Given the description of an element on the screen output the (x, y) to click on. 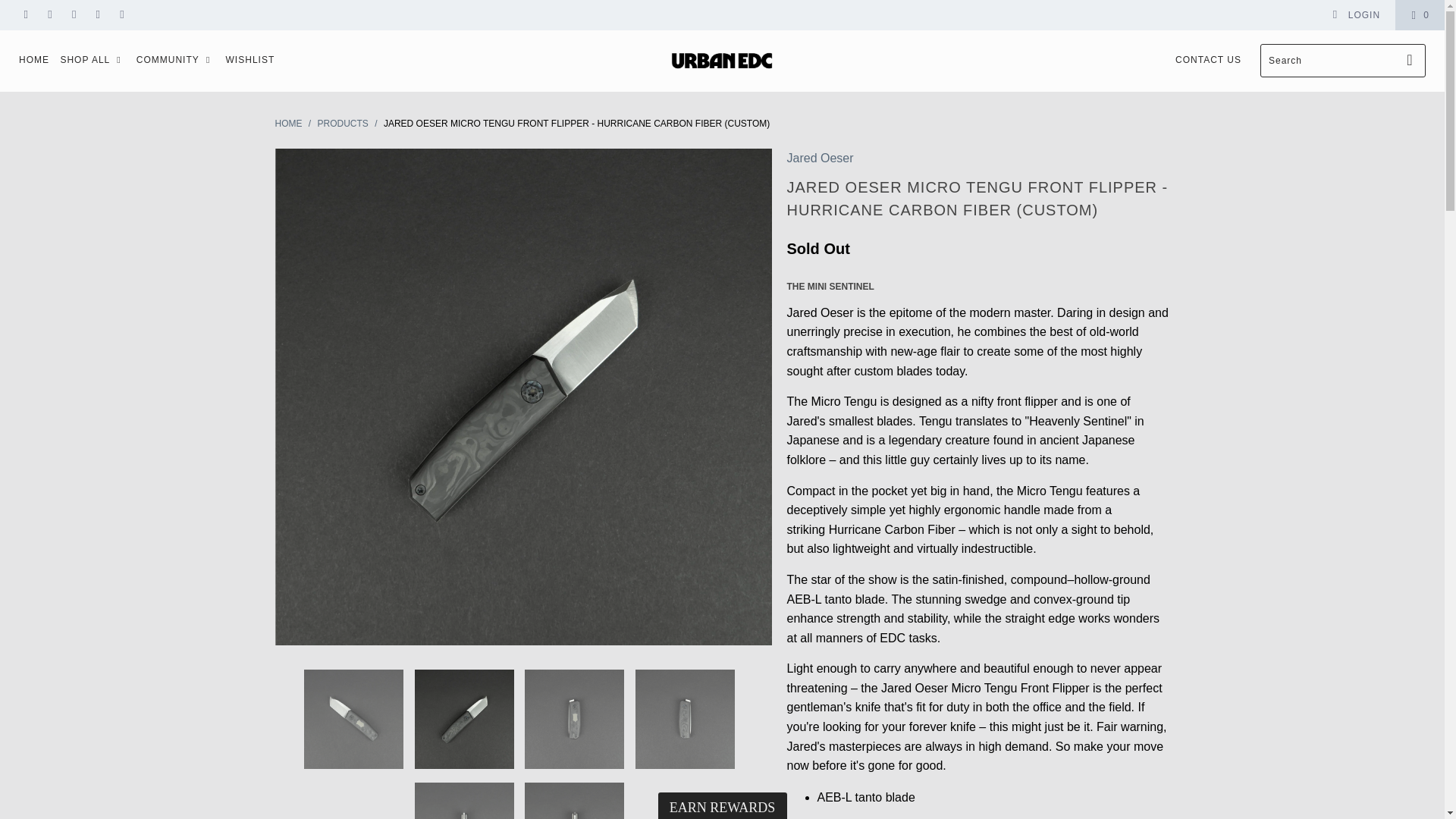
Products (342, 122)
Urban EDC on YouTube (73, 14)
Urban EDC on Twitter (25, 14)
Urban EDC on Facebook (49, 14)
Urban EDC (722, 60)
Urban EDC on Pinterest (96, 14)
Urban EDC on Instagram (121, 14)
Urban EDC (288, 122)
My Account  (1355, 15)
Jared Oeser (820, 157)
